Given the description of an element on the screen output the (x, y) to click on. 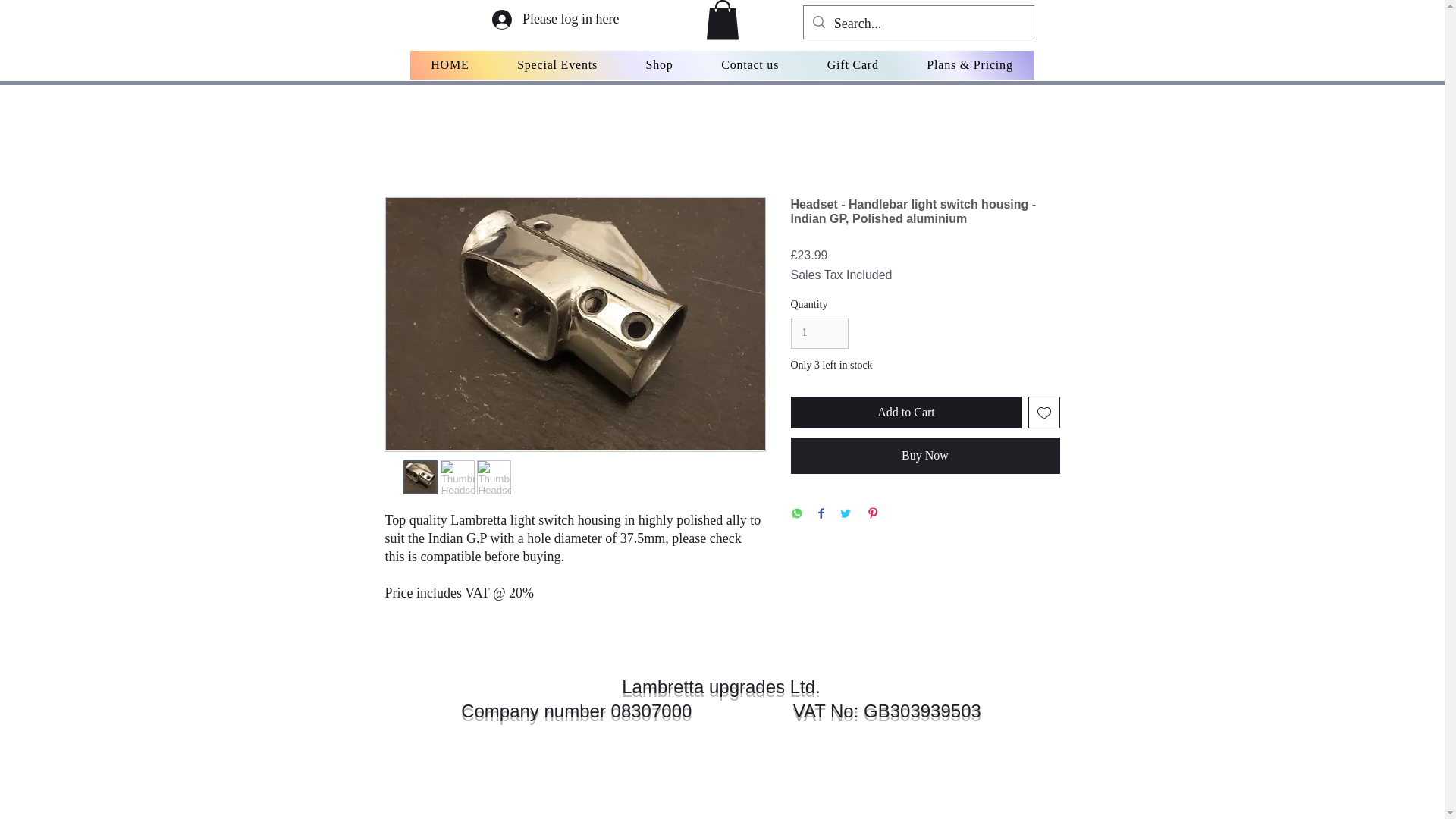
Please log in here (554, 19)
1 (818, 332)
Contact us (749, 64)
Buy Now (924, 455)
Add to Cart (906, 412)
Gift Card (852, 64)
HOME (449, 64)
Special Events (556, 64)
Shop (659, 64)
